Given the description of an element on the screen output the (x, y) to click on. 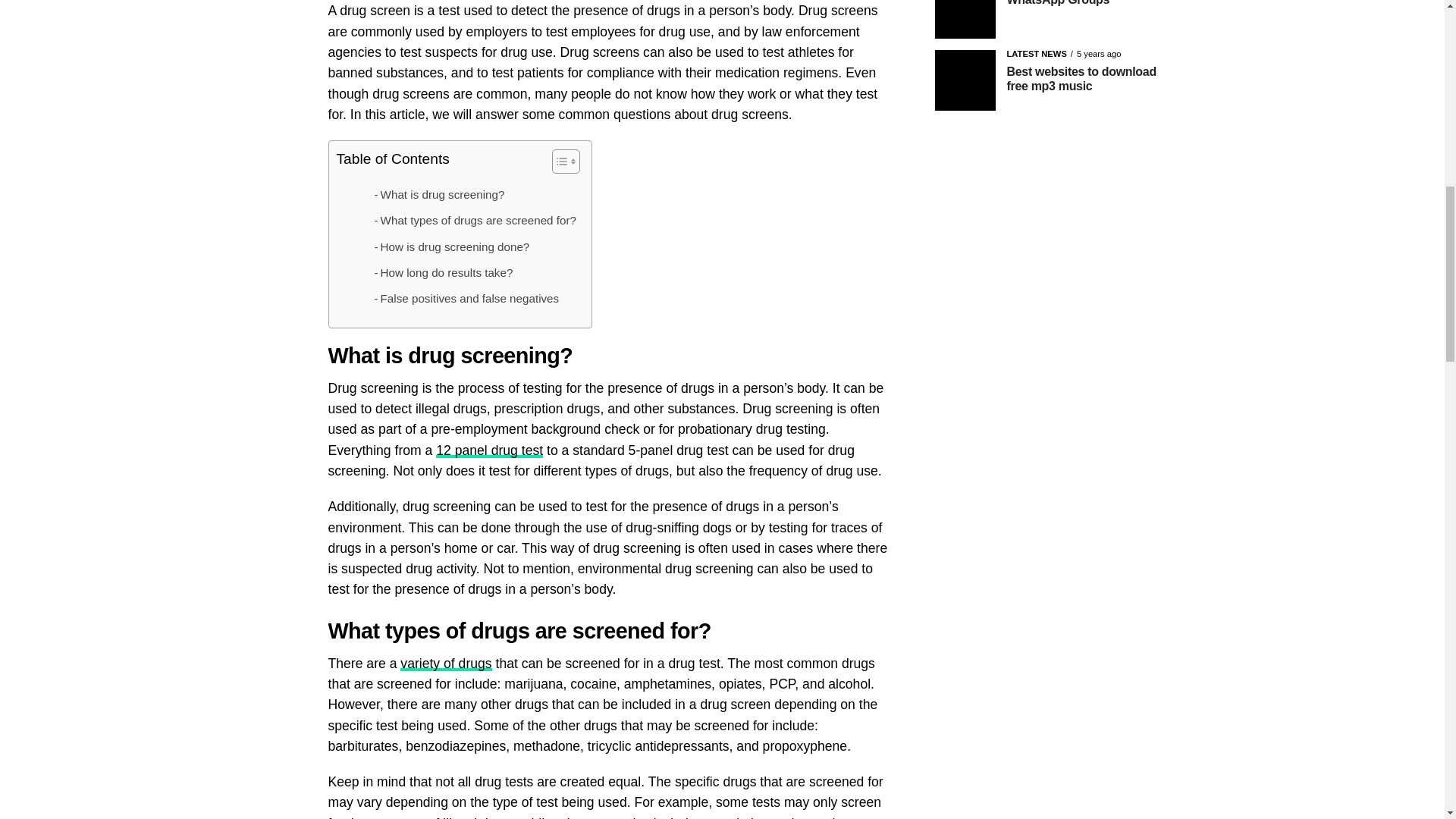
What is drug screening? (439, 194)
What types of drugs are screened for? (475, 220)
How long do results take? (443, 272)
How is drug screening done? (451, 247)
How is drug screening done? (451, 247)
12 panel drug test (489, 450)
How long do results take? (443, 272)
False positives and false negatives (466, 298)
What types of drugs are screened for? (475, 220)
False positives and false negatives (466, 298)
variety of drugs (446, 663)
What is drug screening? (439, 194)
